Given the description of an element on the screen output the (x, y) to click on. 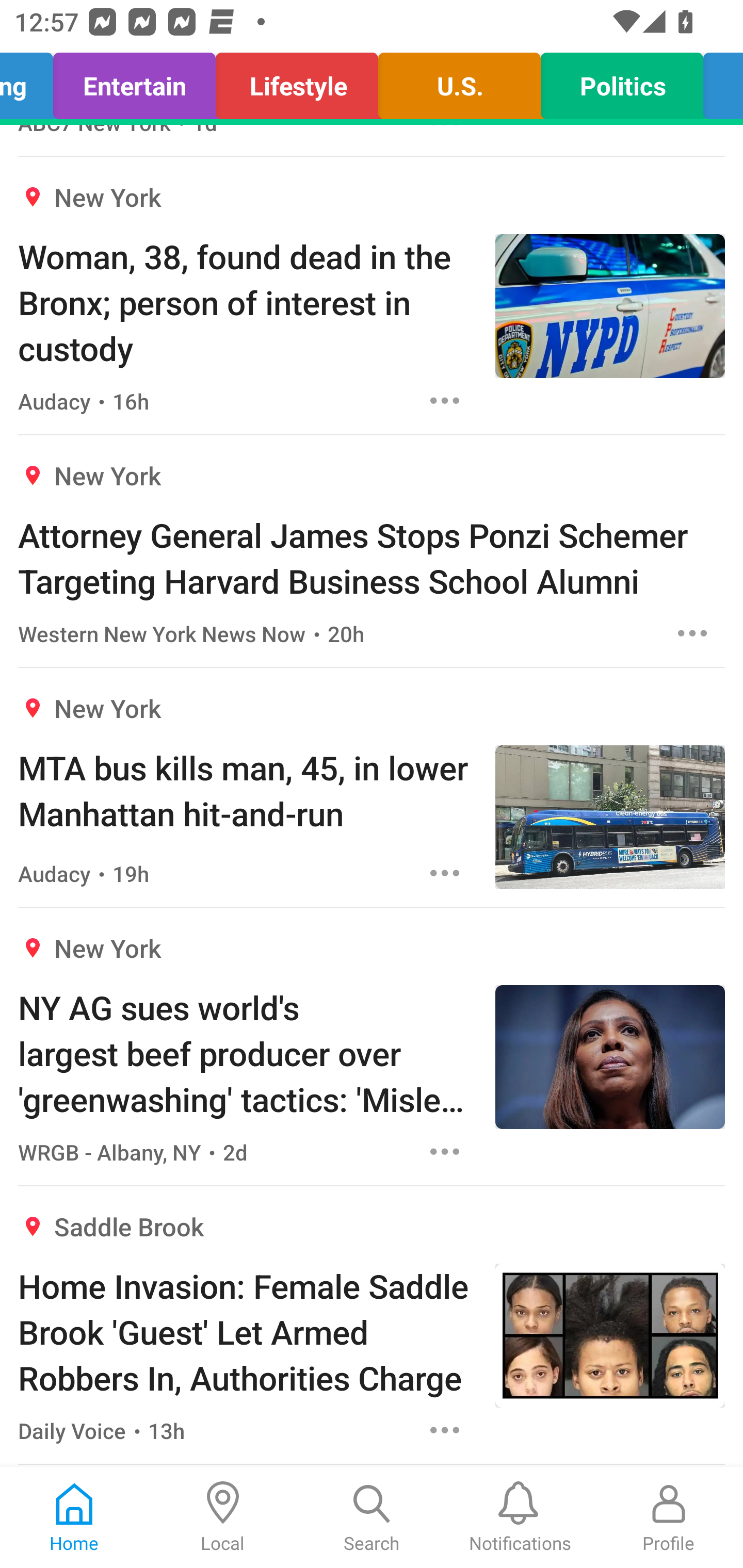
Entertain (134, 81)
Lifestyle (297, 81)
U.S. (459, 81)
Politics (621, 81)
Options (444, 400)
Options (692, 633)
Options (444, 873)
Options (444, 1151)
Options (444, 1429)
Local (222, 1517)
Search (371, 1517)
Notifications (519, 1517)
Profile (668, 1517)
